Given the description of an element on the screen output the (x, y) to click on. 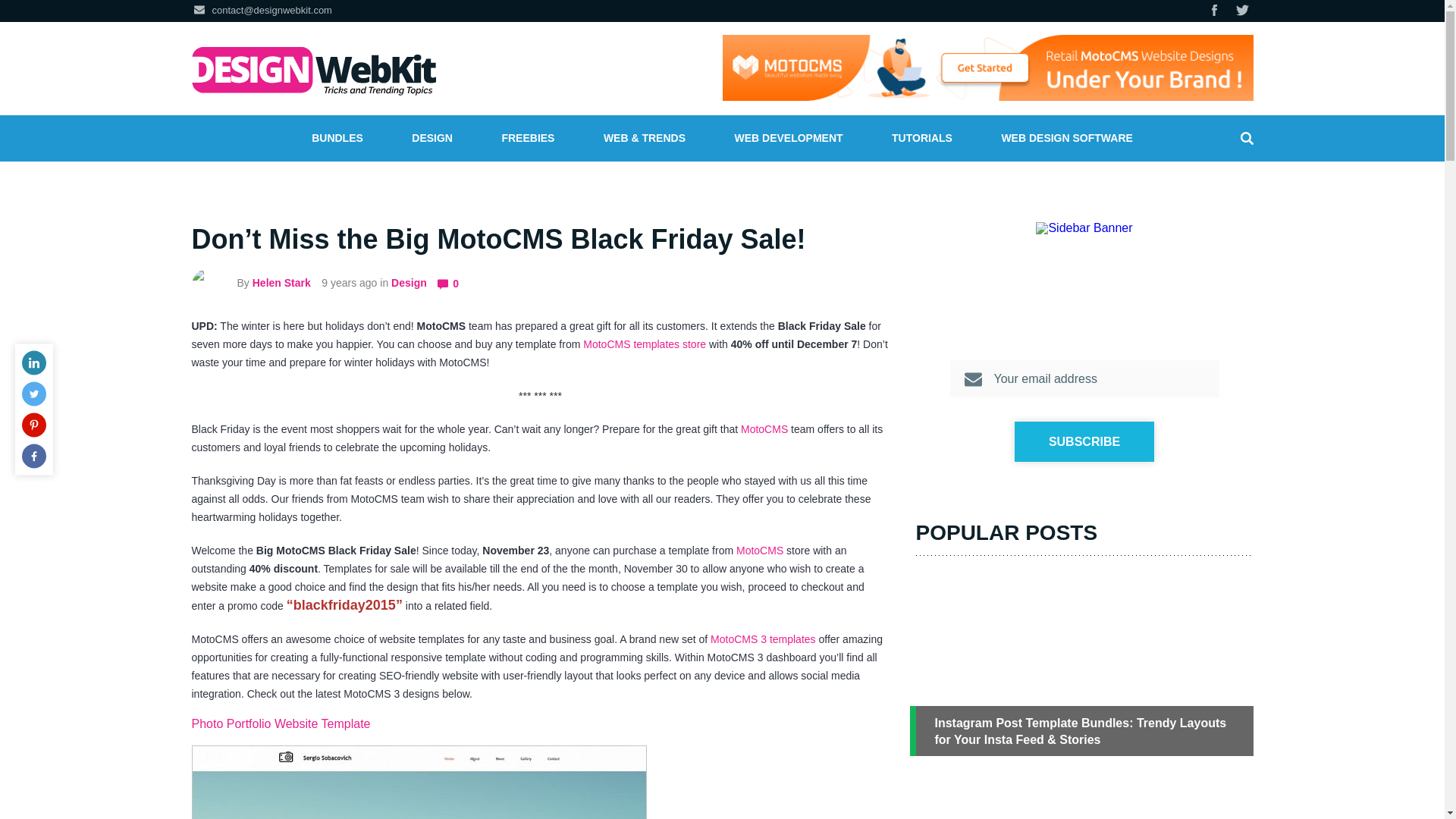
Twitter (1242, 9)
MotoCMS (764, 428)
DesignWebKit (312, 71)
Facebook (33, 456)
Helen Stark (281, 282)
WEB DESIGN SOFTWARE (1066, 138)
BUNDLES (337, 138)
Facebook (1214, 9)
WEB DEVELOPMENT (788, 138)
MotoCMS (759, 550)
